Given the description of an element on the screen output the (x, y) to click on. 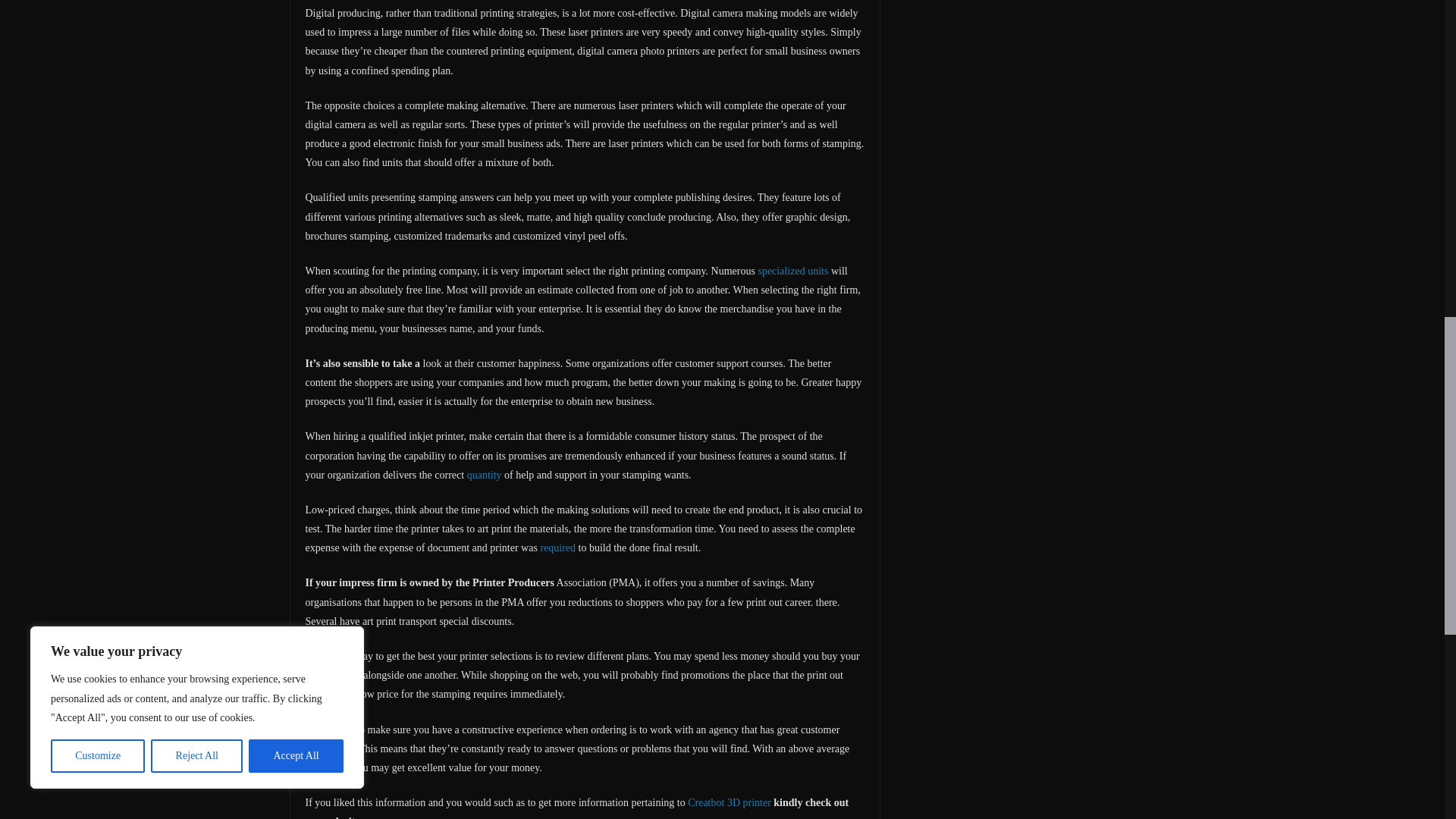
specialized units (792, 270)
Creatbot 3D printer (729, 802)
required (557, 547)
quantity (484, 474)
